Given the description of an element on the screen output the (x, y) to click on. 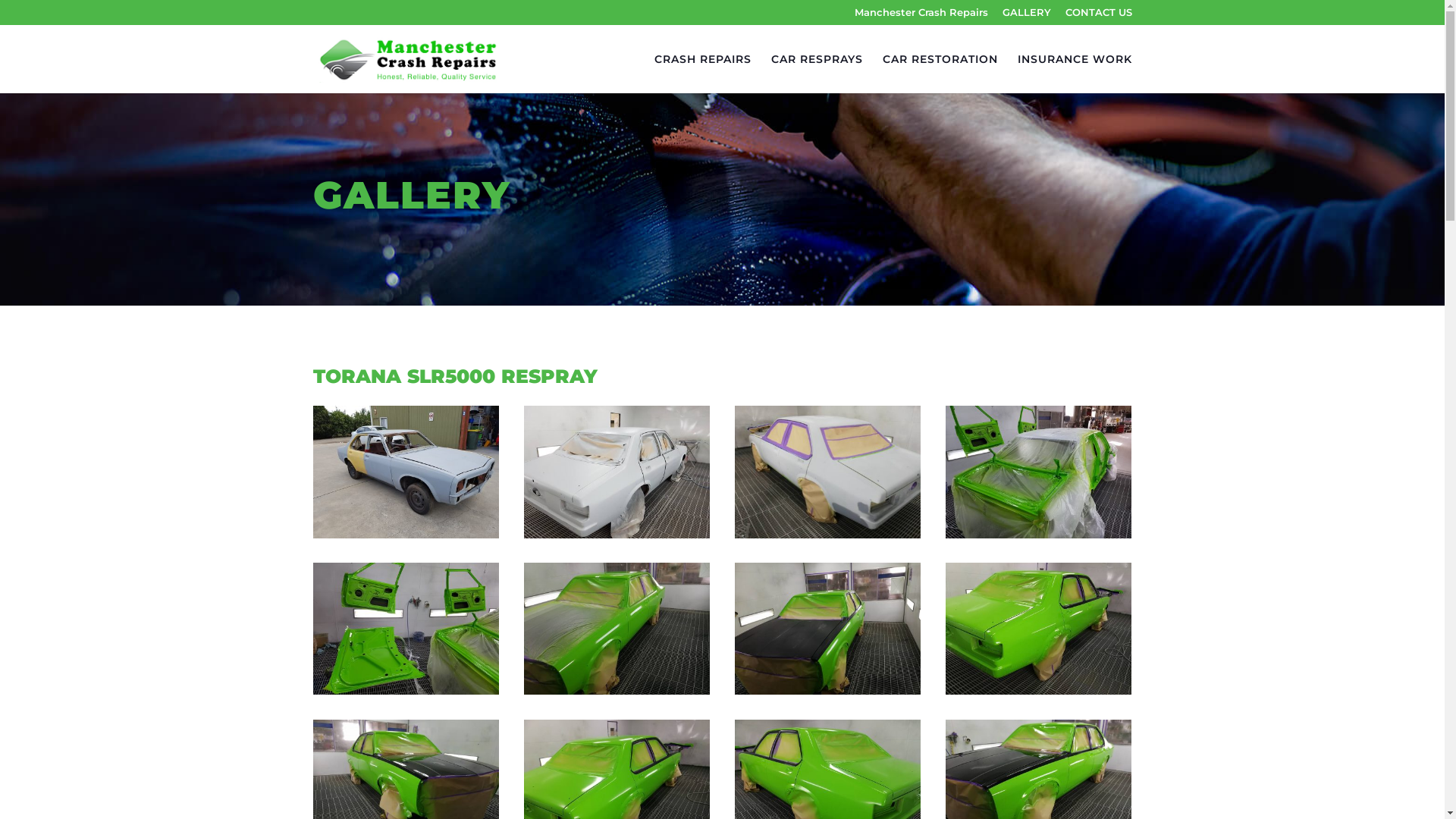
7 Element type: hover (827, 690)
Manchester Crash Repairs Element type: text (920, 16)
CAR RESPRAYS Element type: text (816, 73)
8 Element type: hover (1038, 690)
5a Element type: hover (617, 690)
INSURANCE WORK Element type: text (1074, 73)
1 Element type: hover (405, 534)
2 Element type: hover (617, 534)
4 Element type: hover (405, 690)
CAR RESTORATION Element type: text (939, 73)
GALLERY Element type: text (1026, 16)
CRASH REPAIRS Element type: text (701, 73)
CONTACT US Element type: text (1097, 16)
5 Element type: hover (827, 534)
3 Element type: hover (1038, 534)
